Given the description of an element on the screen output the (x, y) to click on. 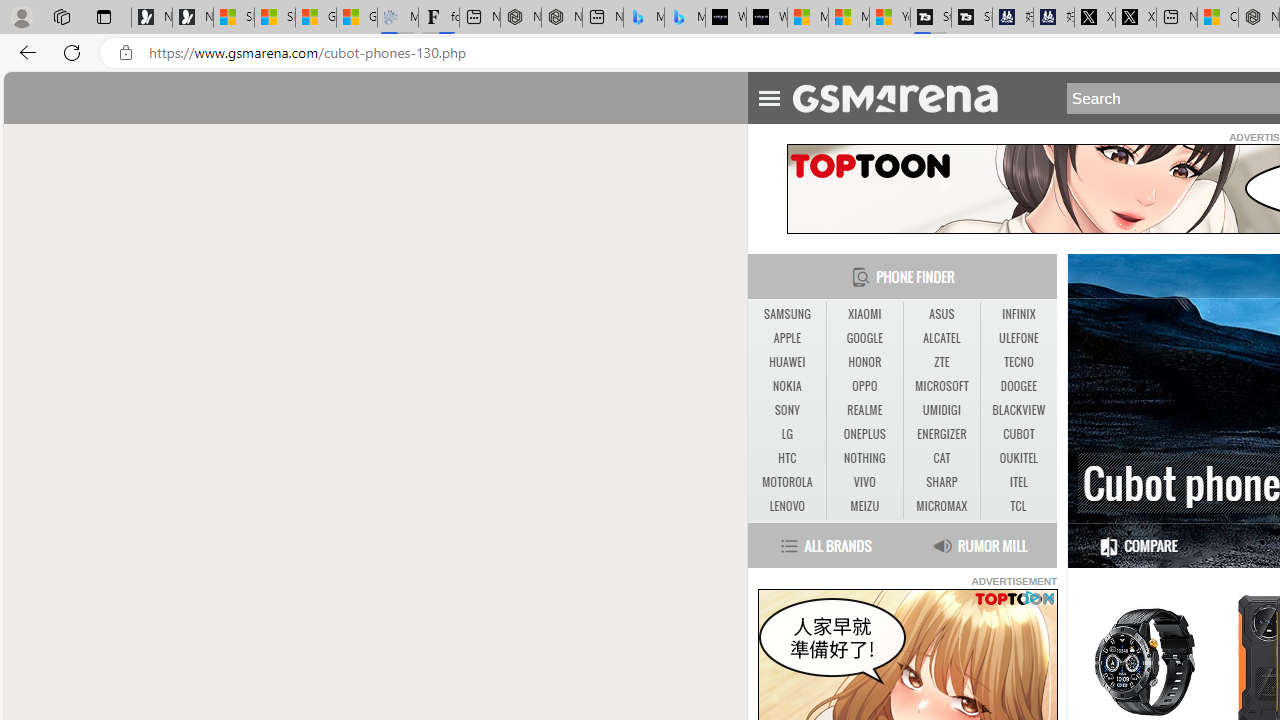
Streaming Coverage | T3 (931, 17)
NOKIA (786, 386)
XIAOMI (863, 313)
Microsoft Bing Travel - Stays in Bangkok, Bangkok, Thailand (643, 17)
Toggle Navigation (768, 95)
HUAWEI (786, 362)
DOOGEE (1018, 385)
MICROSOFT (941, 385)
CUBOT (1018, 434)
MOTOROLA (786, 482)
HTC (786, 457)
APPLE (786, 339)
CAT (941, 458)
